Given the description of an element on the screen output the (x, y) to click on. 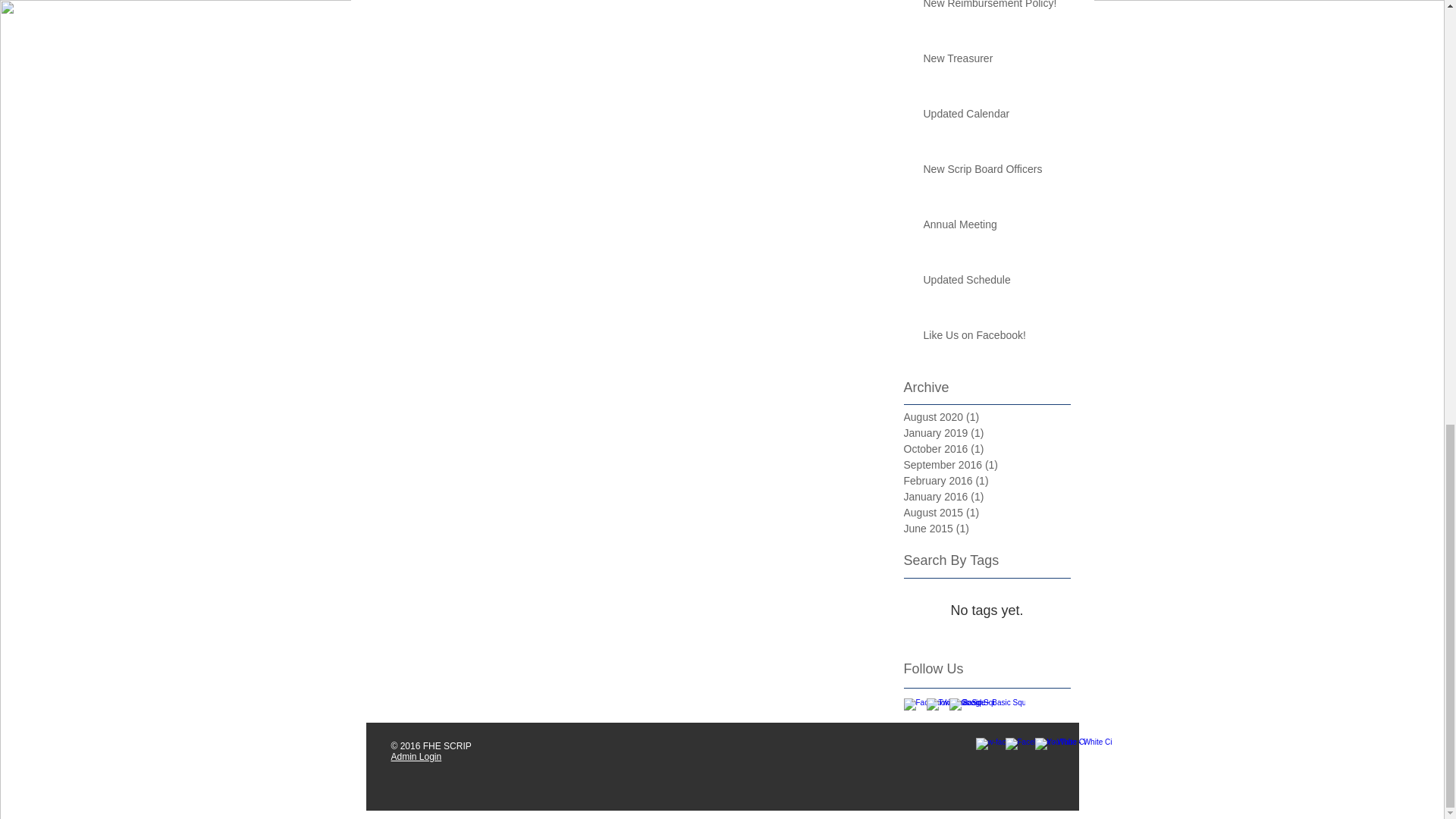
Annual Meeting (992, 228)
Updated Calendar (992, 117)
New Reimbursement Policy! (992, 8)
New Scrip Board Officers (992, 172)
New Treasurer (992, 61)
Admin Login (416, 756)
Like Us on Facebook! (992, 338)
Updated Schedule (992, 283)
